Given the description of an element on the screen output the (x, y) to click on. 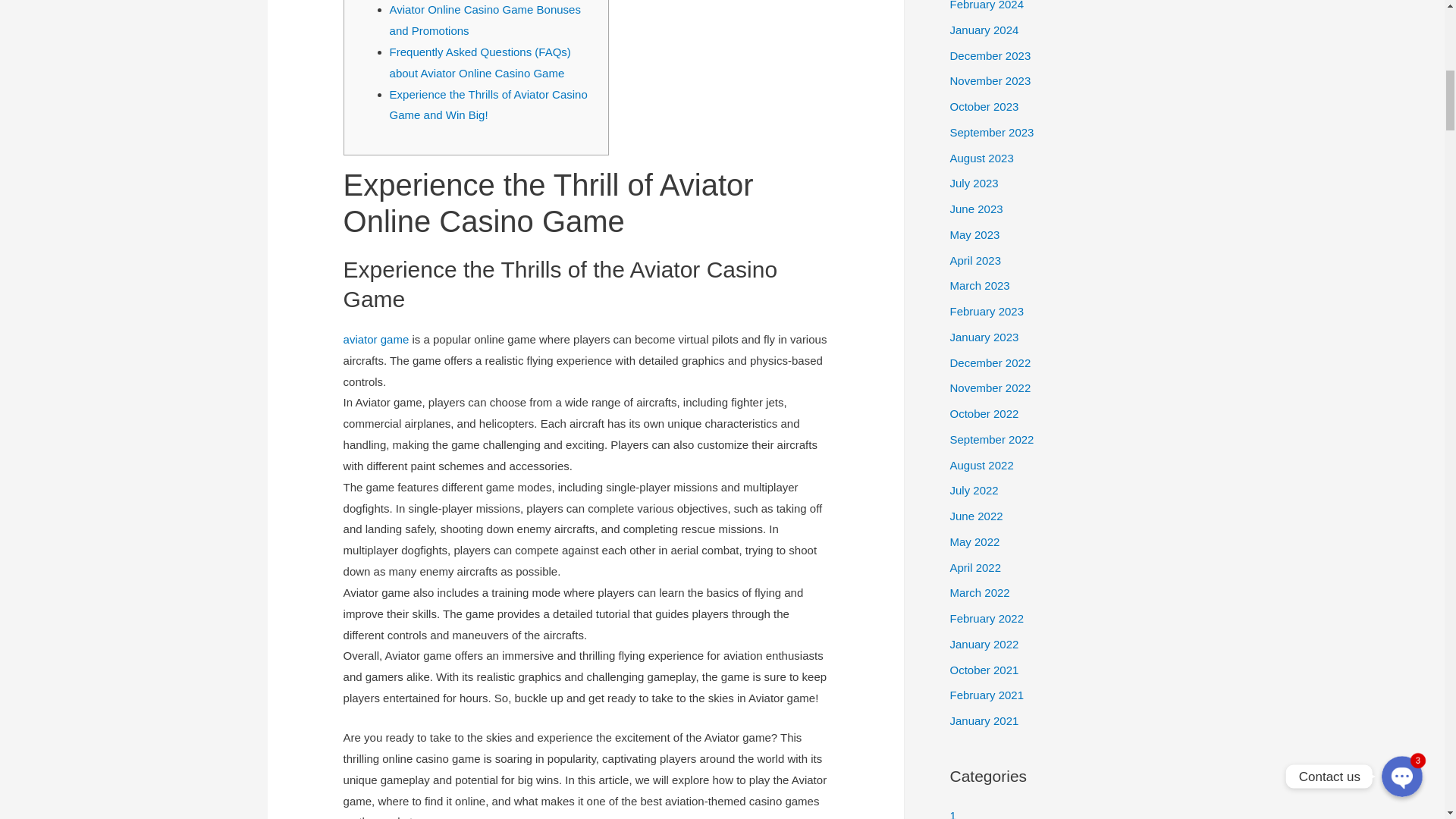
Experience the Thrills of Aviator Casino Game and Win Big! (489, 104)
Aviator Online Casino Game Bonuses and Promotions (485, 19)
aviator game (376, 338)
